Given the description of an element on the screen output the (x, y) to click on. 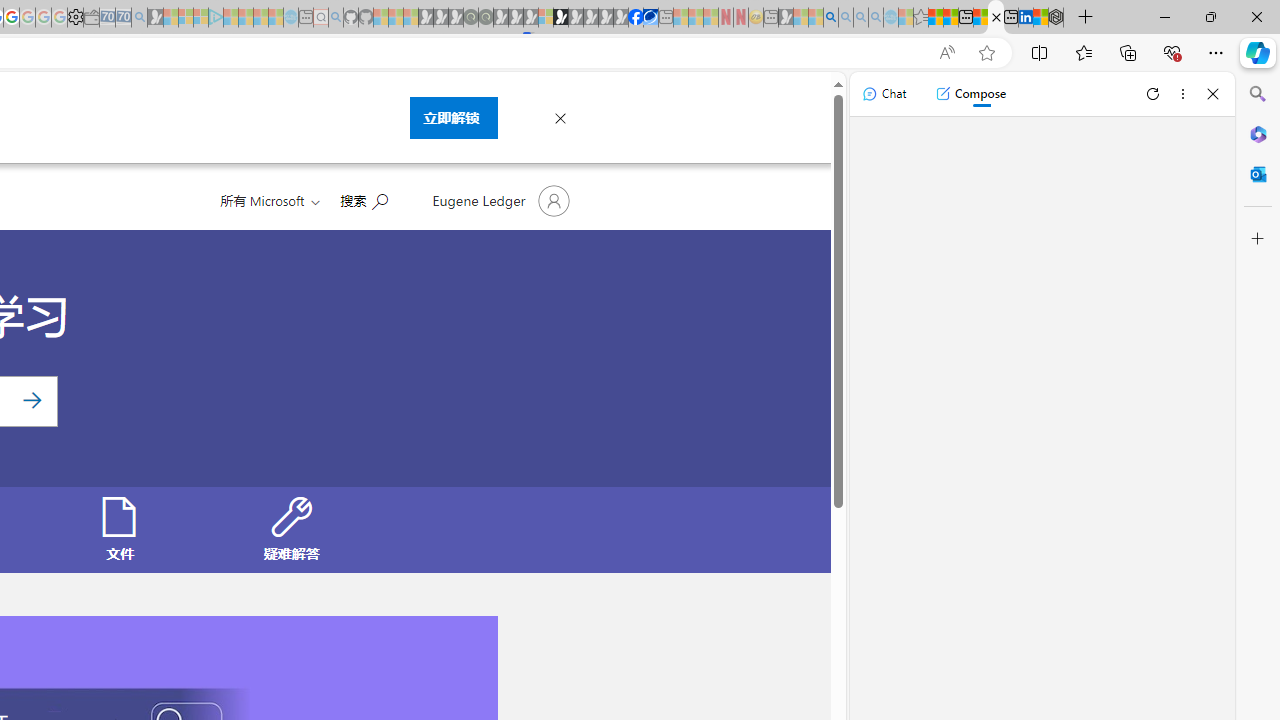
MSN - Sleeping (786, 17)
Future Focus Report 2024 - Sleeping (485, 17)
